Given the description of an element on the screen output the (x, y) to click on. 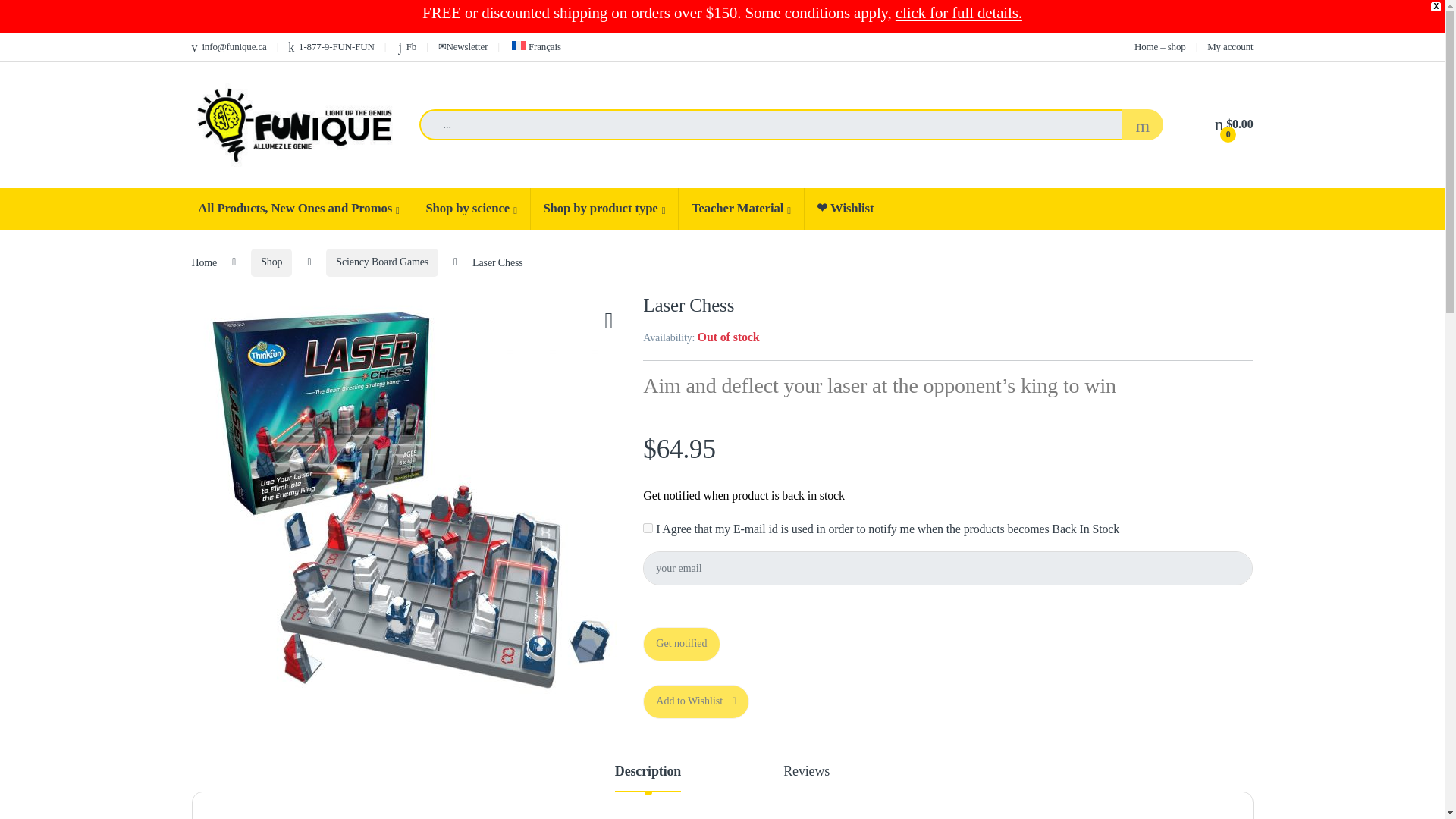
1-877-9-FUN-FUN (331, 46)
click for full details. (958, 13)
on (647, 528)
My account (1229, 46)
Get notified (681, 643)
My account (1229, 46)
1-877-9-FUN-FUN (331, 46)
